Given the description of an element on the screen output the (x, y) to click on. 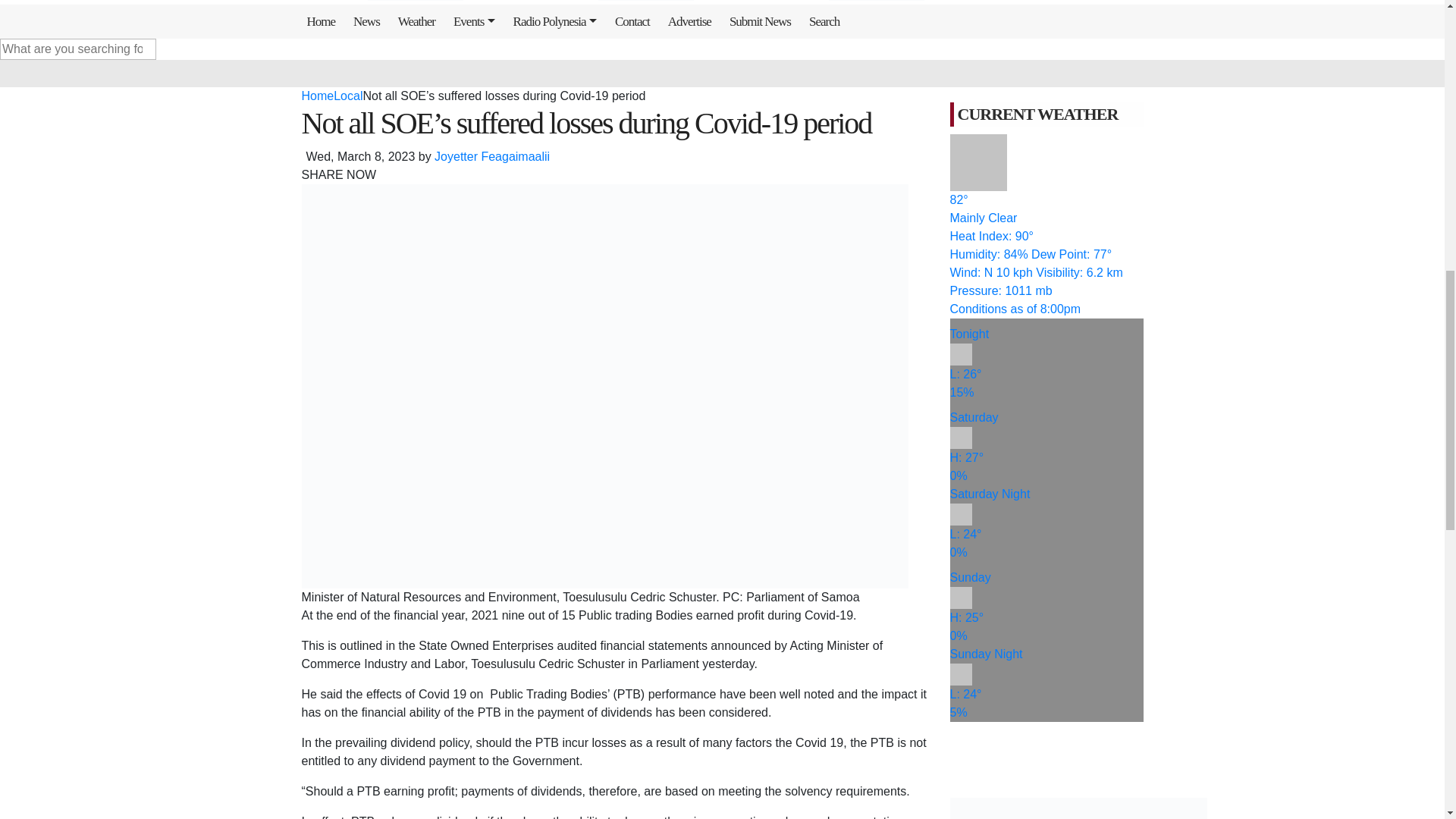
Posts by Joyetter Feagaimaalii (491, 155)
Radio Polynesia (558, 21)
News (369, 21)
Events (477, 21)
Home (324, 21)
Search for: (77, 48)
Weather (419, 21)
